Given the description of an element on the screen output the (x, y) to click on. 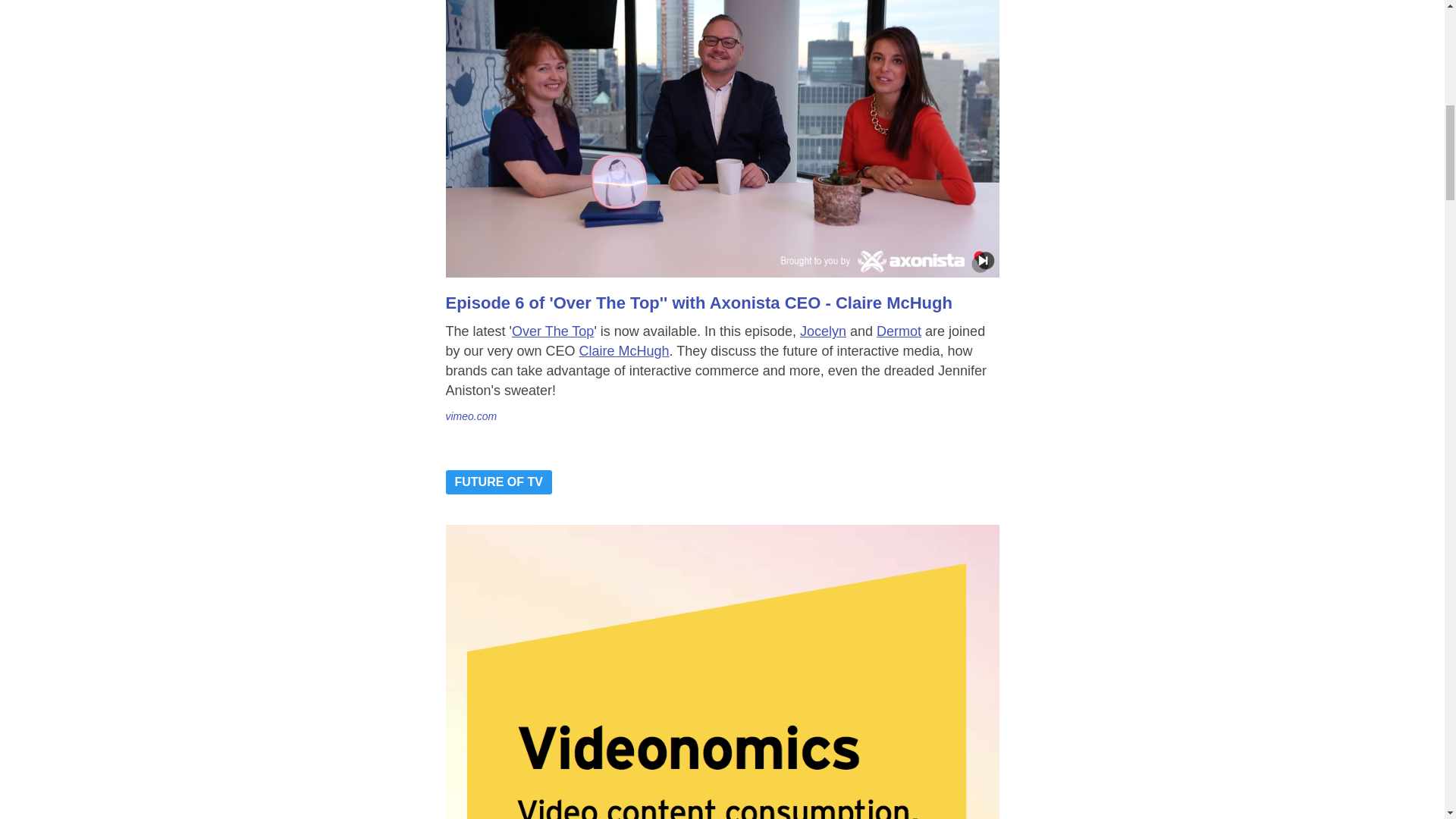
vimeo.com (471, 416)
Dermot (898, 331)
Over The Top (553, 331)
Claire McHugh (624, 350)
Jocelyn (822, 331)
